Given the description of an element on the screen output the (x, y) to click on. 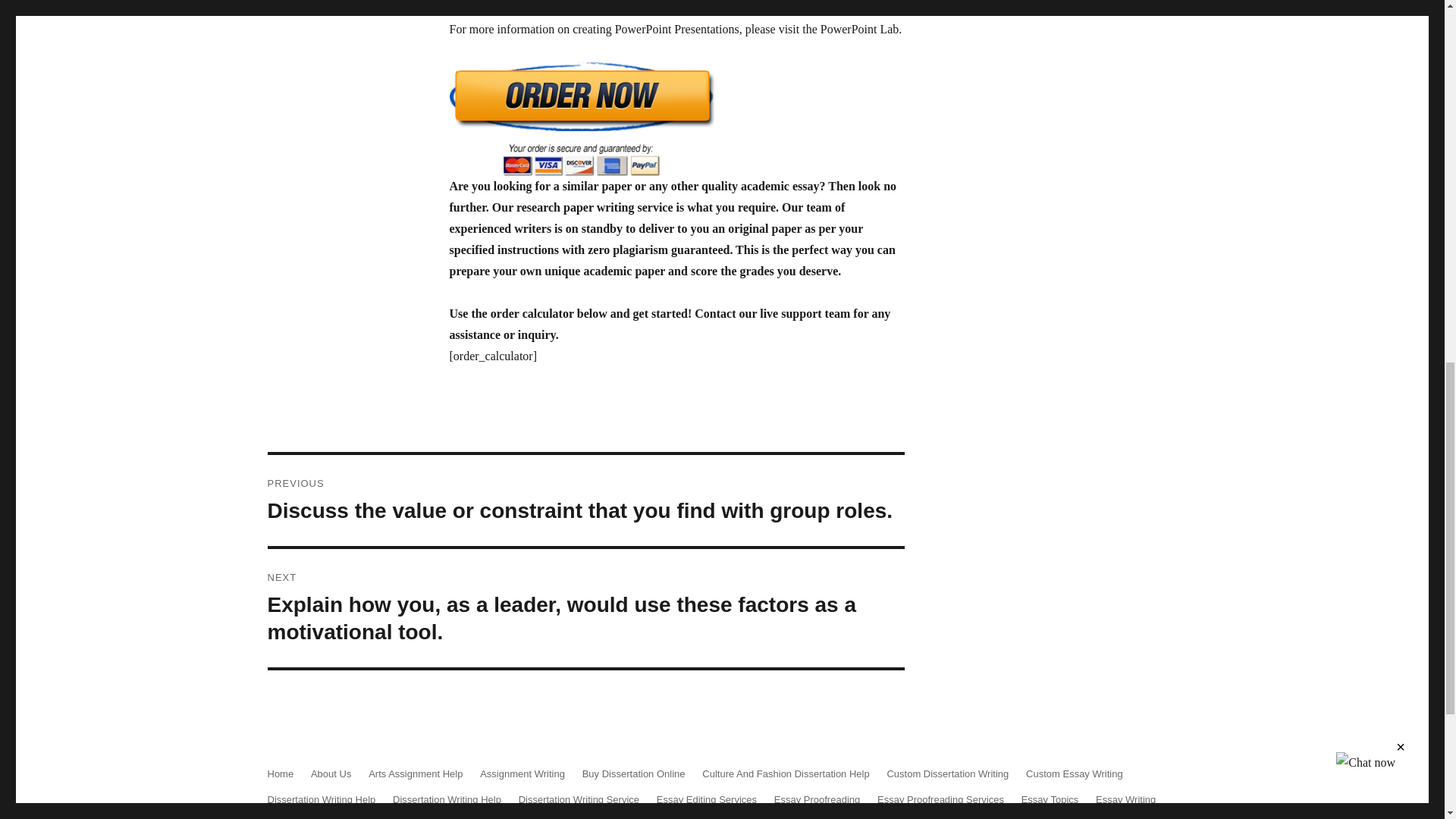
Click to Order (676, 118)
